Given the description of an element on the screen output the (x, y) to click on. 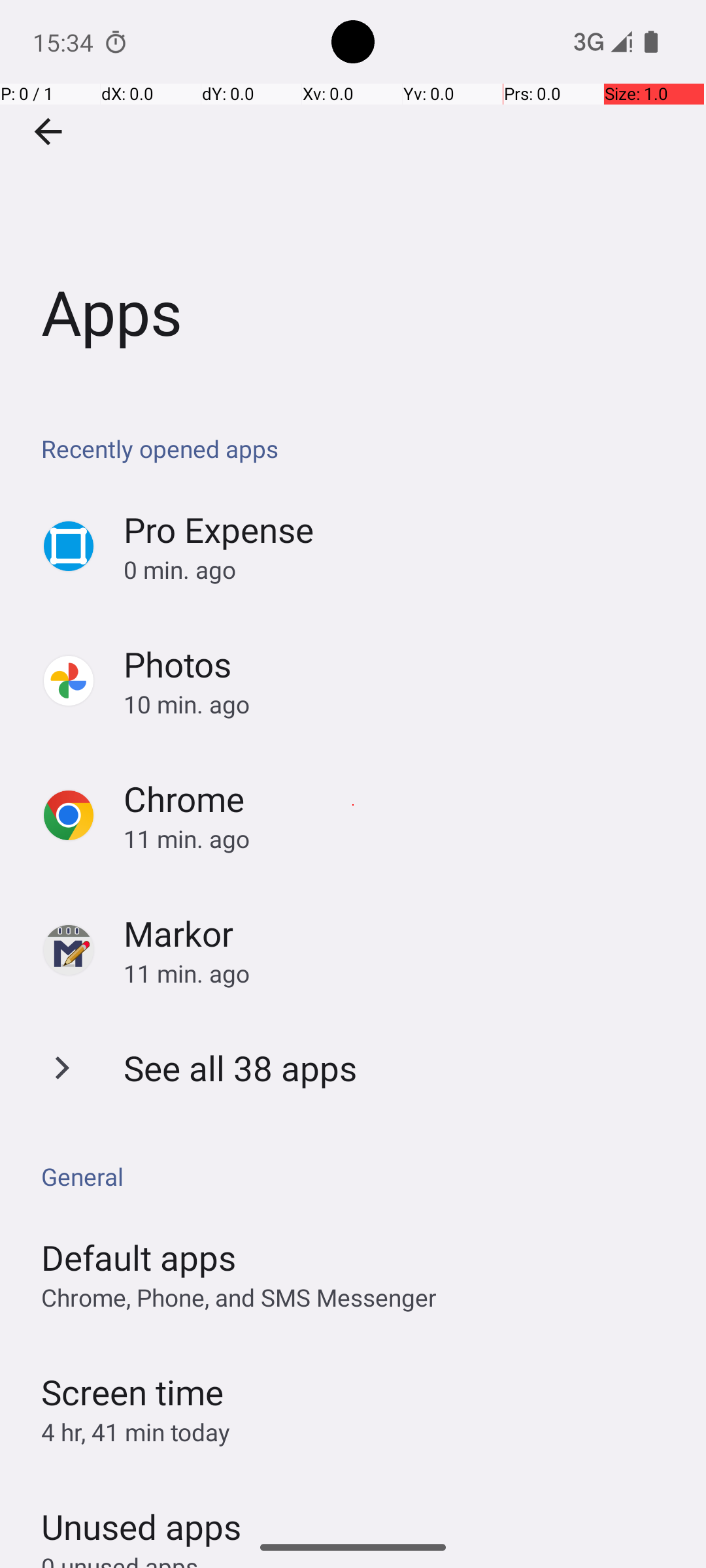
10 min. ago Element type: android.widget.TextView (400, 703)
11 min. ago Element type: android.widget.TextView (400, 838)
See all 38 apps Element type: android.widget.TextView (239, 1067)
4 hr, 41 min today Element type: android.widget.TextView (135, 1431)
